Given the description of an element on the screen output the (x, y) to click on. 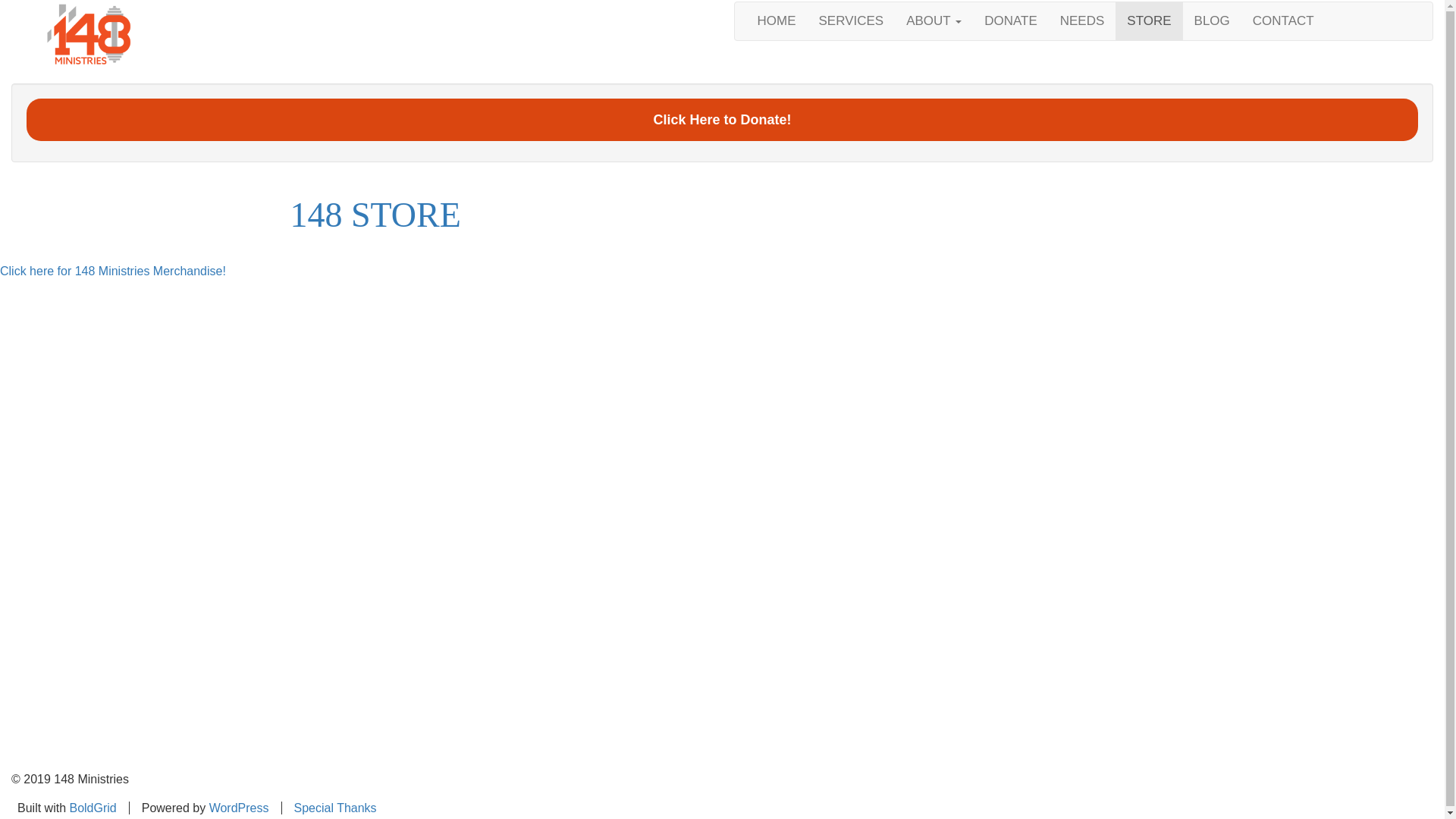
WordPress Element type: text (239, 807)
STORE Element type: text (1148, 21)
DONATE Element type: text (1010, 21)
ABOUT Element type: text (933, 21)
148 STORE Element type: text (374, 214)
Click here for 148 Ministries Merchandise! Element type: text (112, 270)
BoldGrid Element type: text (92, 807)
CONTACT Element type: text (1283, 21)
NEEDS Element type: text (1082, 21)
BLOG Element type: text (1212, 21)
Click Here to Donate! Element type: text (722, 119)
Special Thanks Element type: text (335, 807)
SERVICES Element type: text (850, 21)
HOME Element type: text (776, 21)
